Given the description of an element on the screen output the (x, y) to click on. 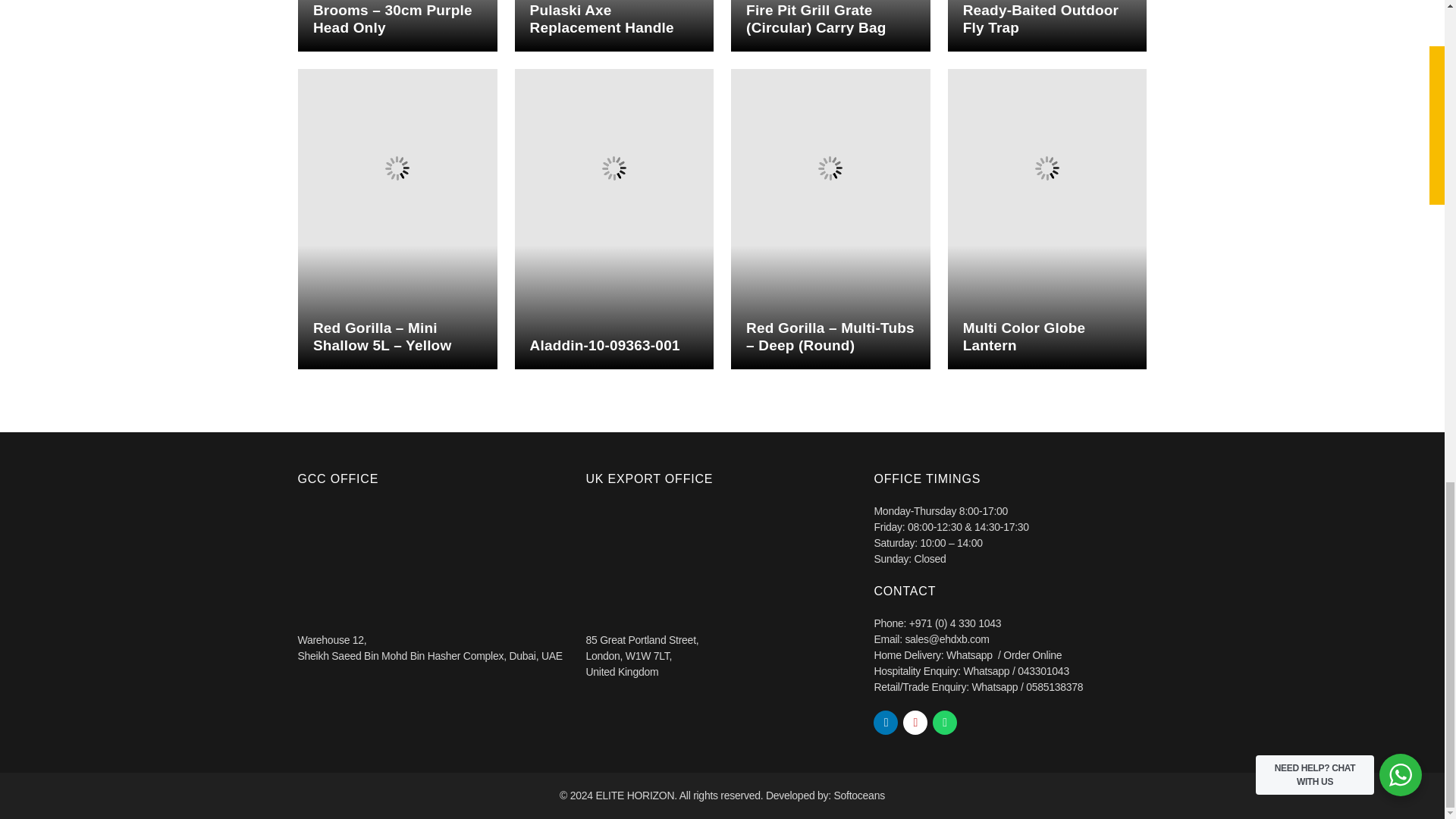
85 Great Portland Street, London, W1W 7LT, United Kingdom (722, 560)
Elite Horizon General Trading LLC (433, 560)
